Given the description of an element on the screen output the (x, y) to click on. 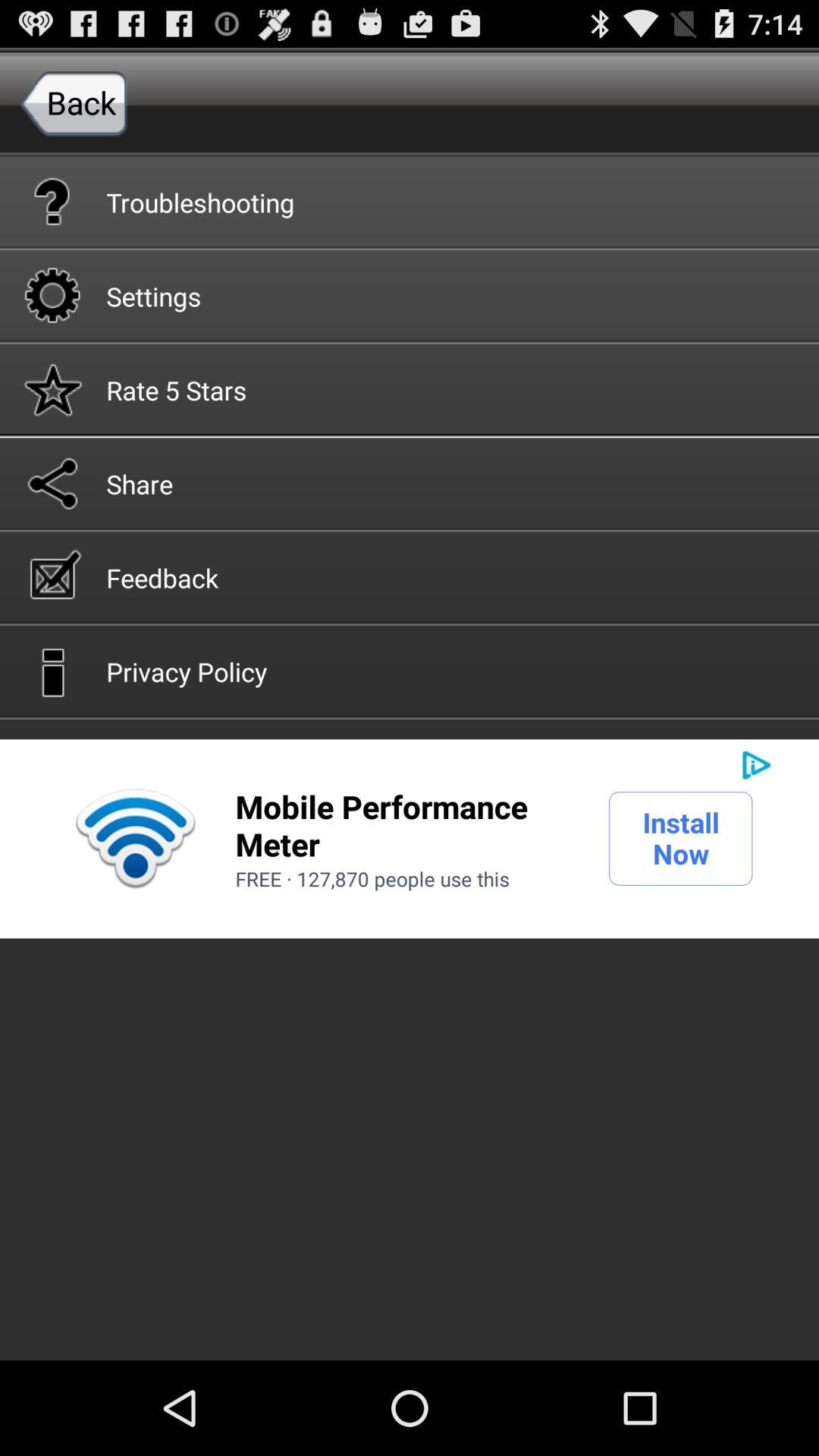
jump to the troubleshooting button (409, 201)
